Given the description of an element on the screen output the (x, y) to click on. 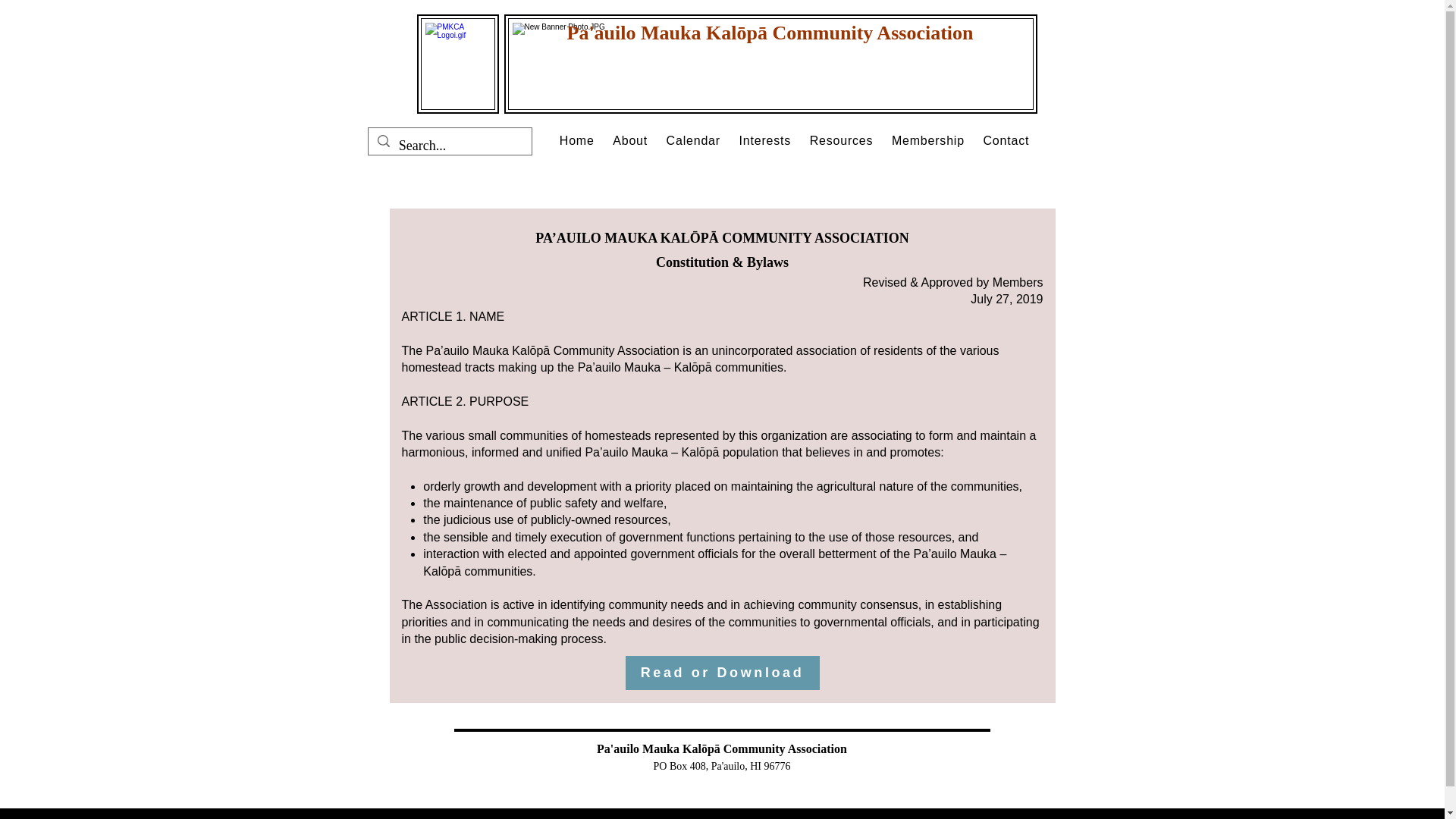
PMKCA Heading Photo.gif (769, 63)
Read or Download (721, 673)
Home (576, 140)
Contact (1005, 140)
Membership (927, 140)
Resources (841, 140)
Interests (763, 140)
Calendar (693, 140)
About (630, 140)
